Given the description of an element on the screen output the (x, y) to click on. 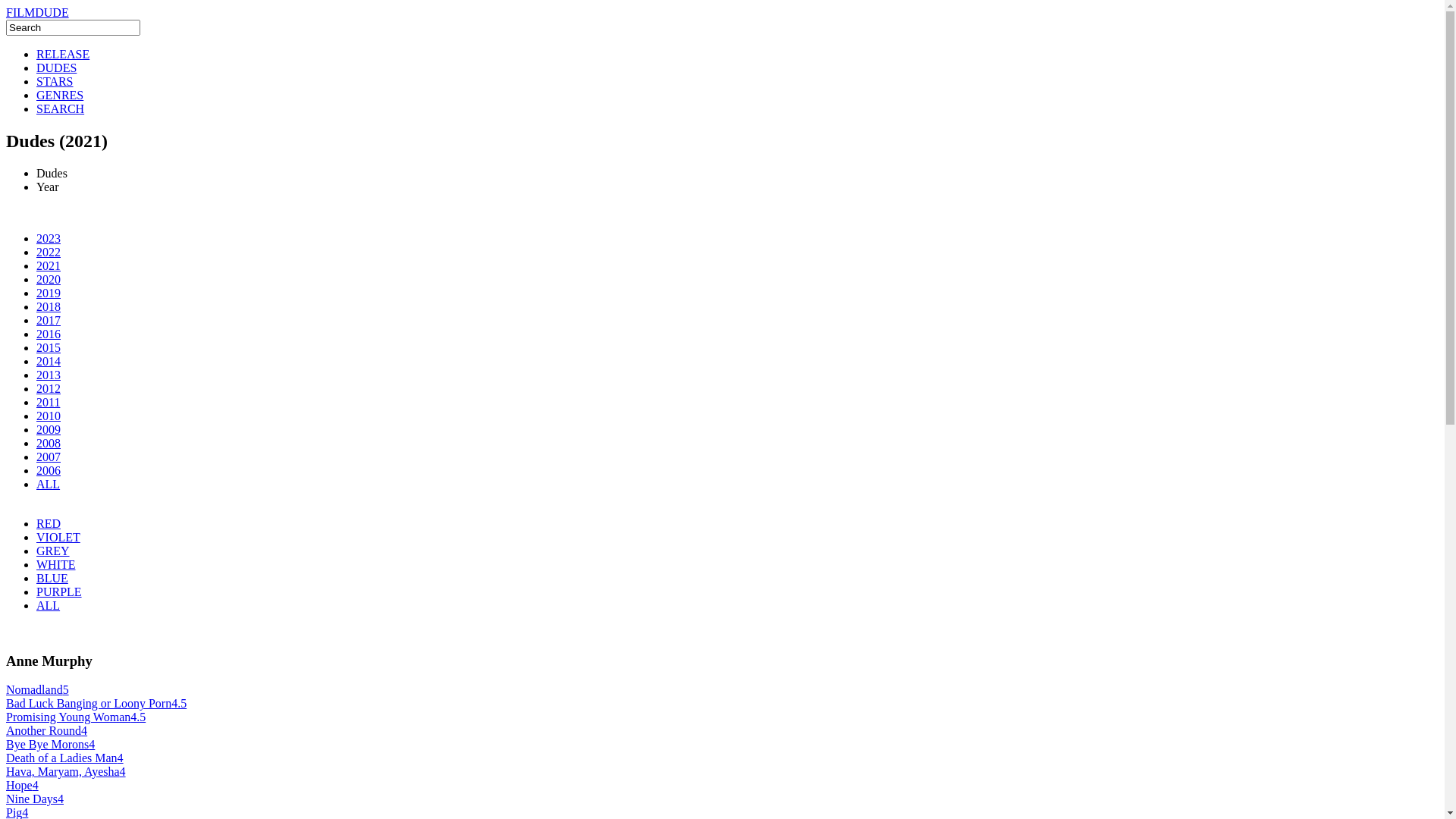
RED Element type: text (48, 523)
2017 Element type: text (48, 319)
2016 Element type: text (48, 333)
VIOLET Element type: text (58, 536)
2020 Element type: text (48, 279)
GENRES Element type: text (59, 94)
2009 Element type: text (48, 429)
Nine Days4 Element type: text (34, 798)
Hope4 Element type: text (22, 784)
ALL Element type: text (47, 483)
Death of a Ladies Man4 Element type: text (64, 757)
2007 Element type: text (48, 456)
ALL Element type: text (47, 605)
BLUE Element type: text (52, 577)
2014 Element type: text (48, 360)
Promising Young Woman4.5 Element type: text (75, 716)
2019 Element type: text (48, 292)
Hava, Maryam, Ayesha4 Element type: text (65, 771)
RELEASE Element type: text (62, 53)
Year Element type: text (47, 186)
PURPLE Element type: text (58, 591)
2018 Element type: text (48, 306)
2013 Element type: text (48, 374)
Bye Bye Morons4 Element type: text (50, 743)
FILMDUDE Element type: text (37, 12)
Bad Luck Banging or Loony Porn4.5 Element type: text (96, 702)
2023 Element type: text (48, 238)
2012 Element type: text (48, 388)
2006 Element type: text (48, 470)
DUDES Element type: text (56, 67)
SEARCH Element type: text (60, 108)
Another Round4 Element type: text (46, 730)
Nomadland5 Element type: text (37, 689)
WHITE Element type: text (55, 564)
Dudes Element type: text (51, 172)
2022 Element type: text (48, 251)
2021 Element type: text (48, 265)
STARS Element type: text (54, 81)
GREY Element type: text (52, 550)
2011 Element type: text (47, 401)
2008 Element type: text (48, 442)
2010 Element type: text (48, 415)
2015 Element type: text (48, 347)
